Given the description of an element on the screen output the (x, y) to click on. 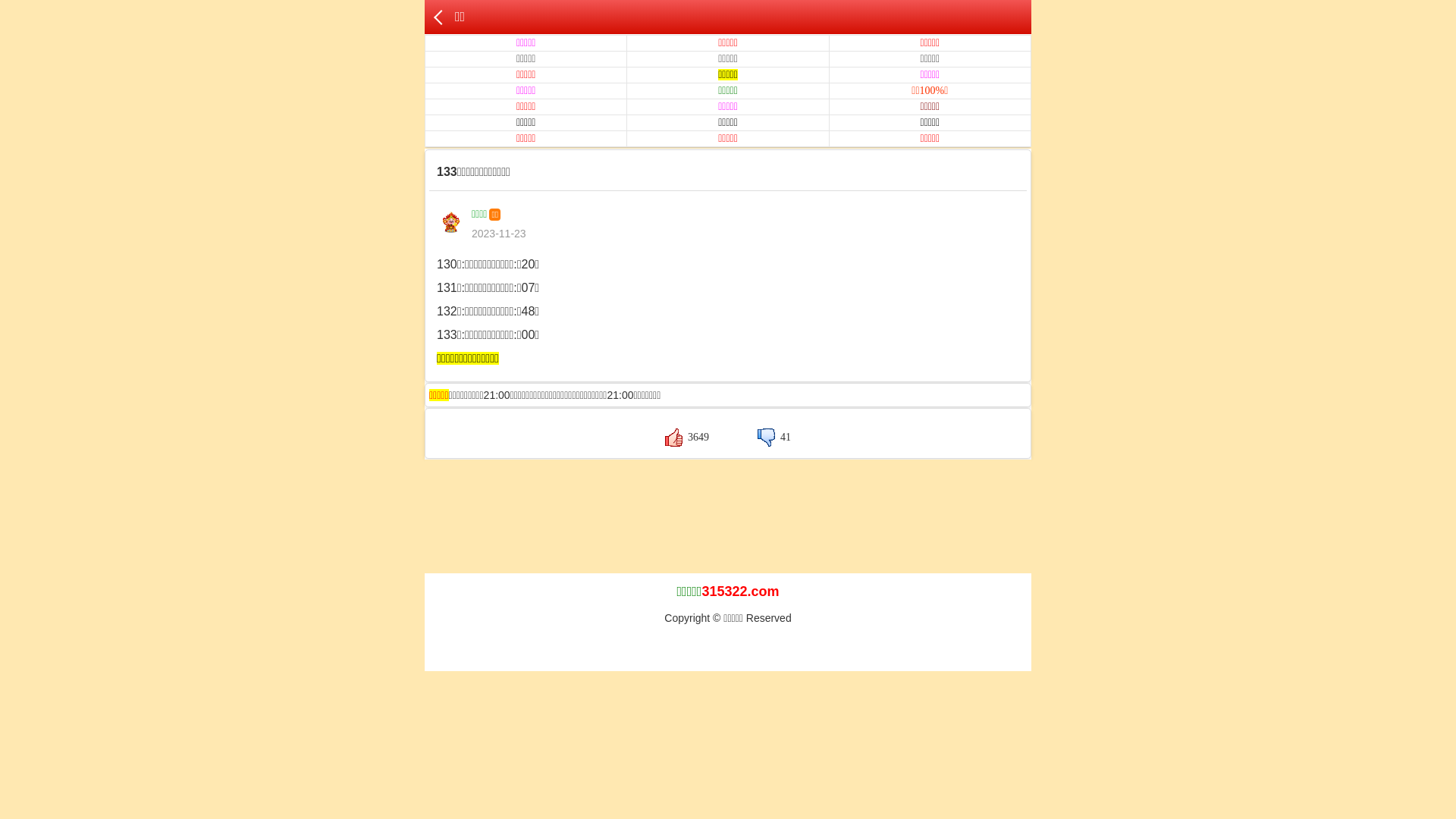
41 Element type: text (773, 436)
3649 Element type: text (687, 436)
